Given the description of an element on the screen output the (x, y) to click on. 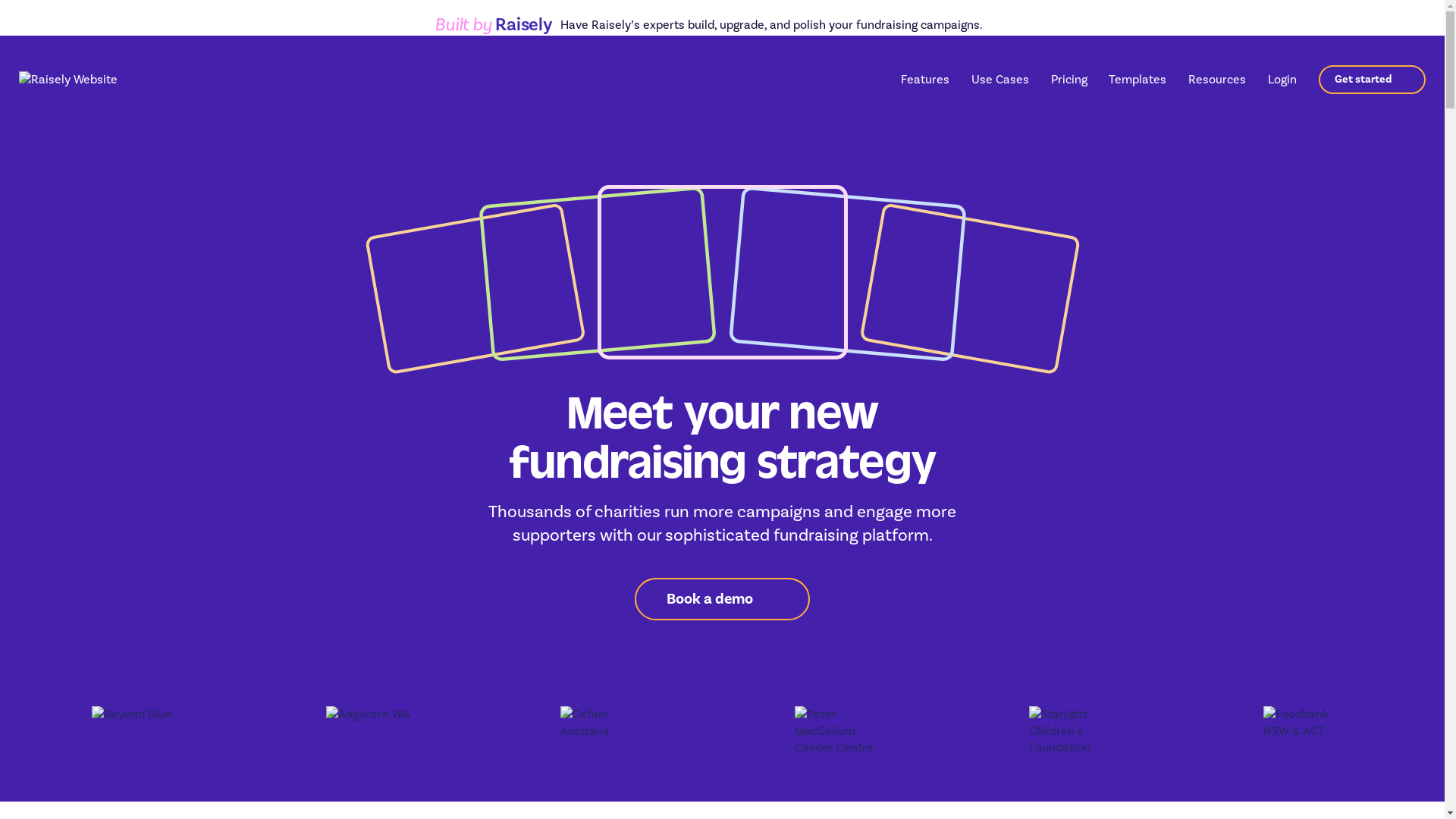
Book a demo Element type: text (721, 598)
Pricing Element type: text (1069, 79)
Resources Element type: text (1216, 79)
Get started Element type: text (1371, 79)
Login Element type: text (1281, 79)
Features Element type: text (924, 79)
Templates Element type: text (1137, 79)
Use Cases Element type: text (1000, 79)
